Given the description of an element on the screen output the (x, y) to click on. 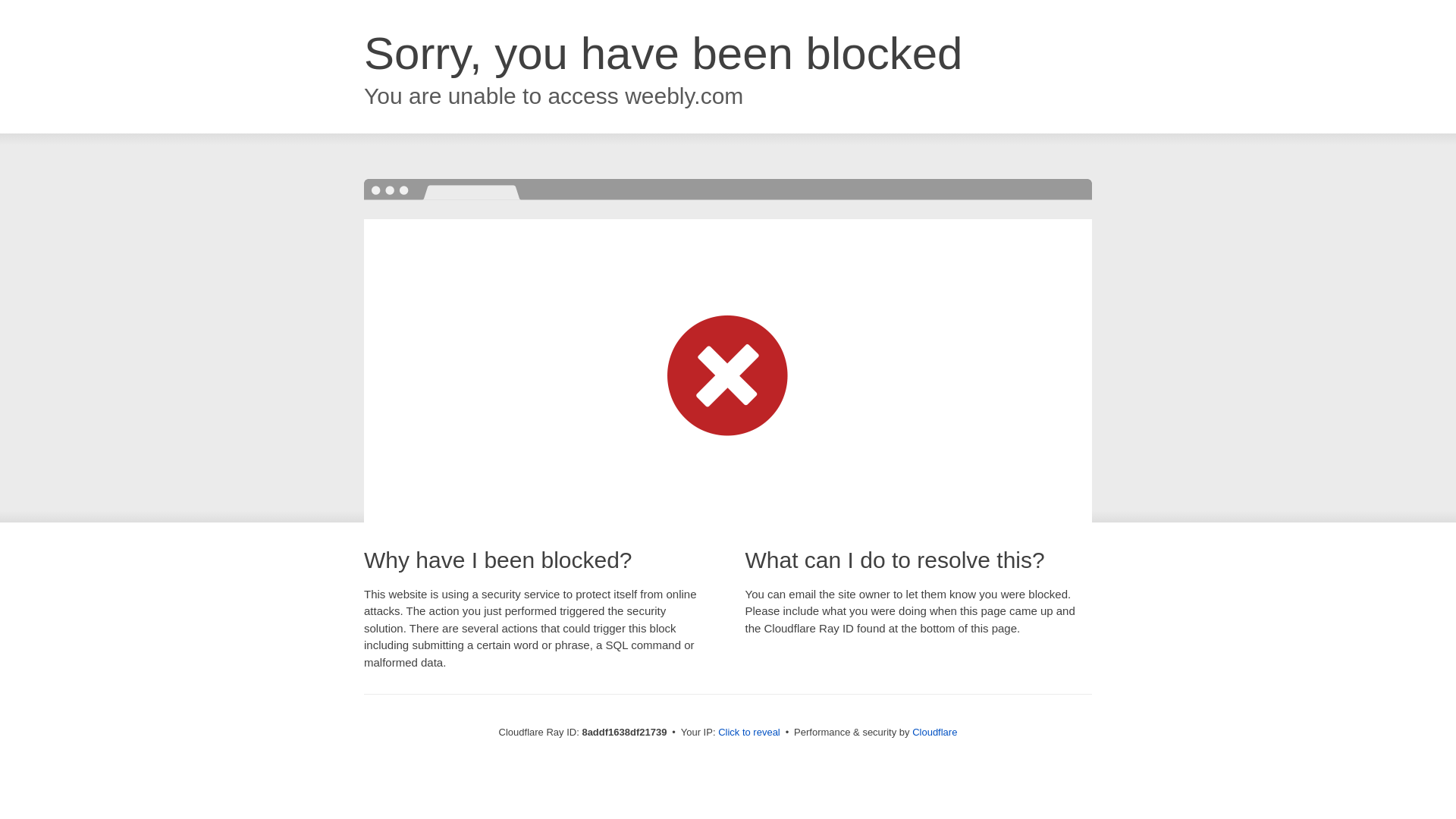
Cloudflare (934, 731)
Click to reveal (748, 732)
